Given the description of an element on the screen output the (x, y) to click on. 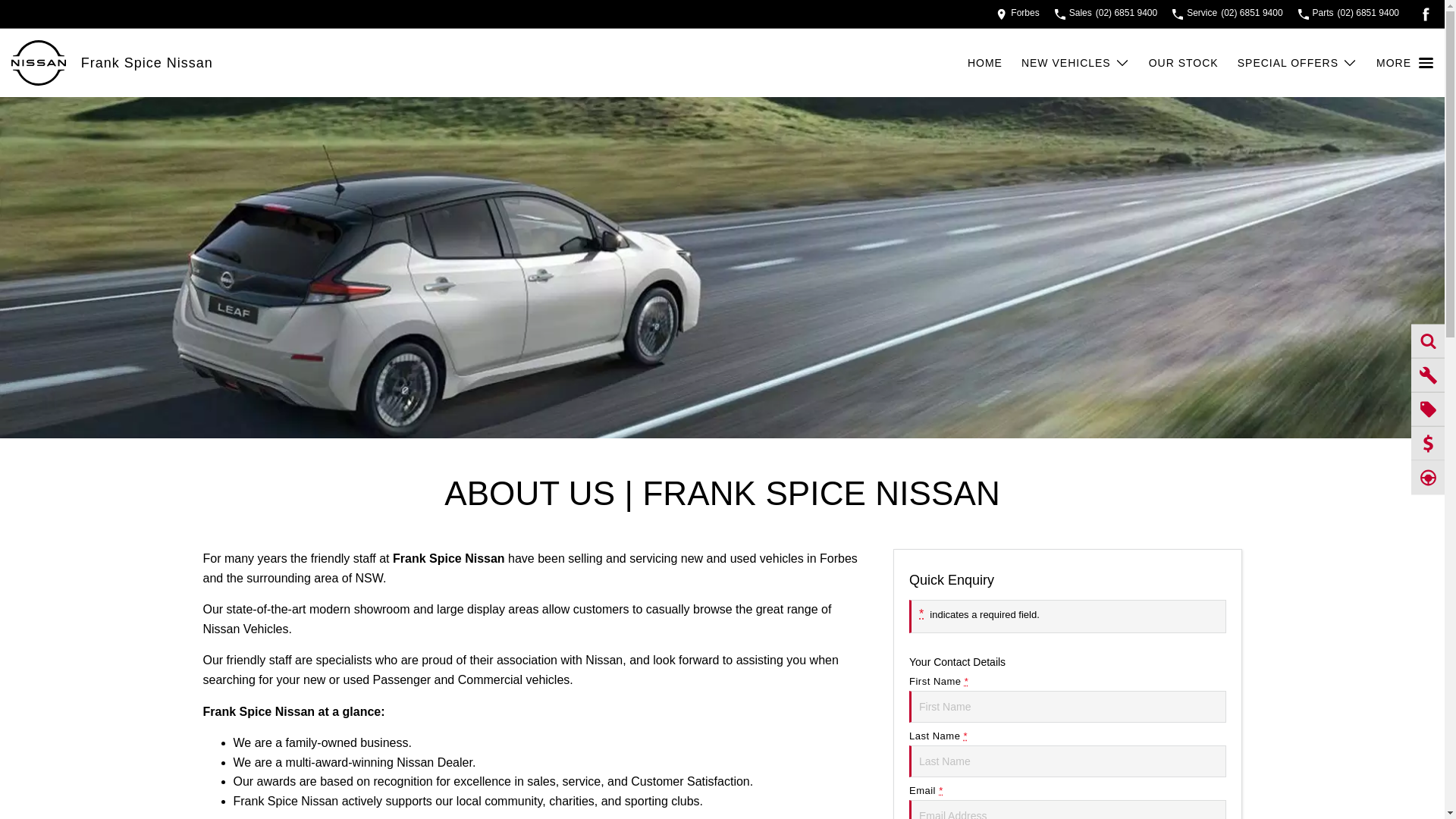
Sales
(02) 6851 9400 Element type: text (1105, 13)
Frank Spice Nissan Element type: text (147, 62)
NEW VEHICLES Element type: text (1075, 62)
Forbes Element type: text (1017, 13)
OUR STOCK Element type: text (1192, 62)
Service
(02) 6851 9400 Element type: text (1227, 13)
HOME Element type: text (994, 62)
SPECIAL OFFERS Element type: text (1297, 62)
Parts
(02) 6851 9400 Element type: text (1348, 13)
MORE Element type: text (1404, 62)
